Given the description of an element on the screen output the (x, y) to click on. 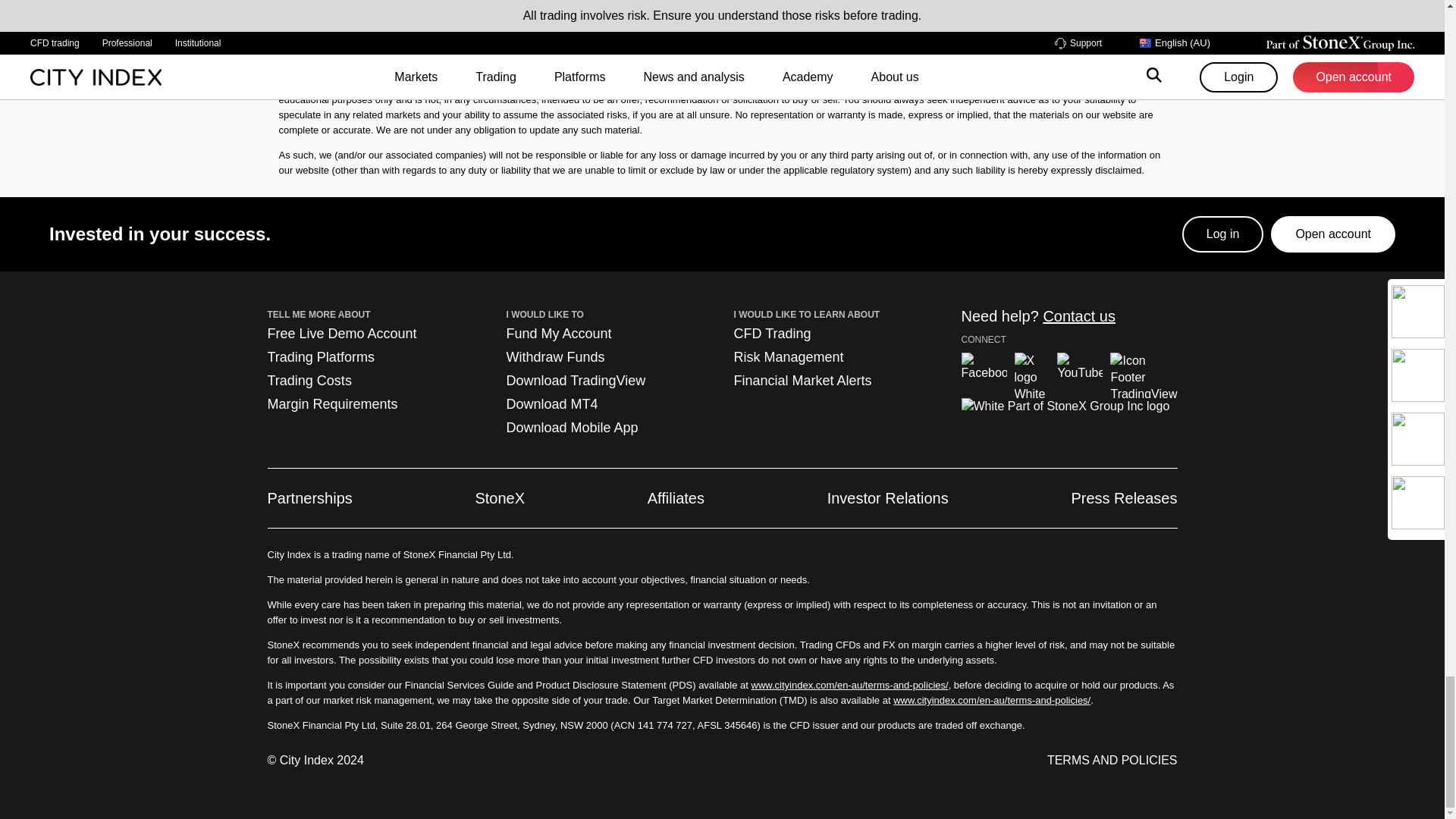
Facebook (983, 375)
